Given the description of an element on the screen output the (x, y) to click on. 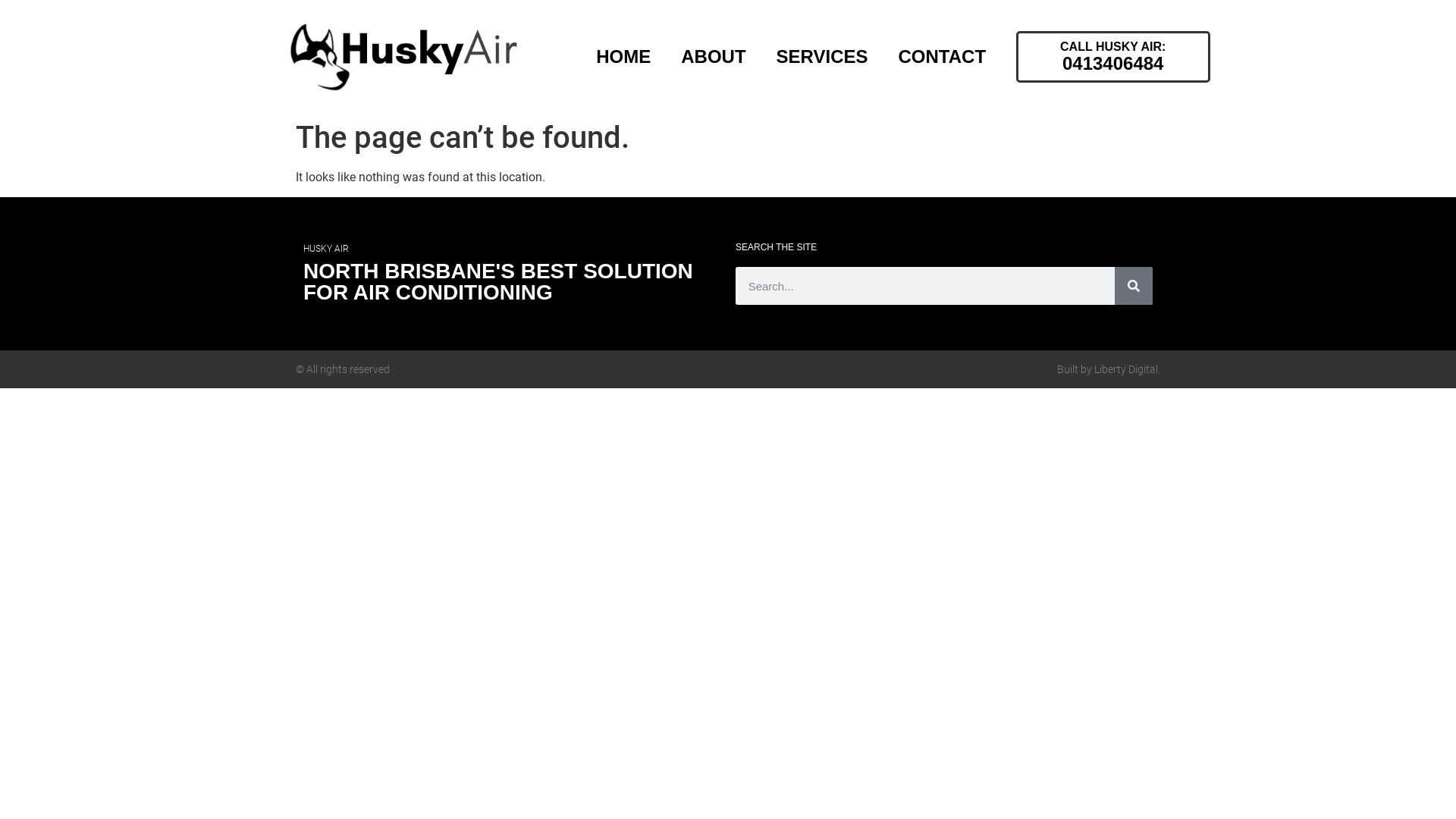
Built by Liberty Digital. Element type: text (1108, 369)
CONTACT Element type: text (942, 56)
0413406484 Element type: text (1112, 63)
HOME Element type: text (622, 56)
SERVICES Element type: text (822, 56)
ABOUT Element type: text (712, 56)
